Given the description of an element on the screen output the (x, y) to click on. 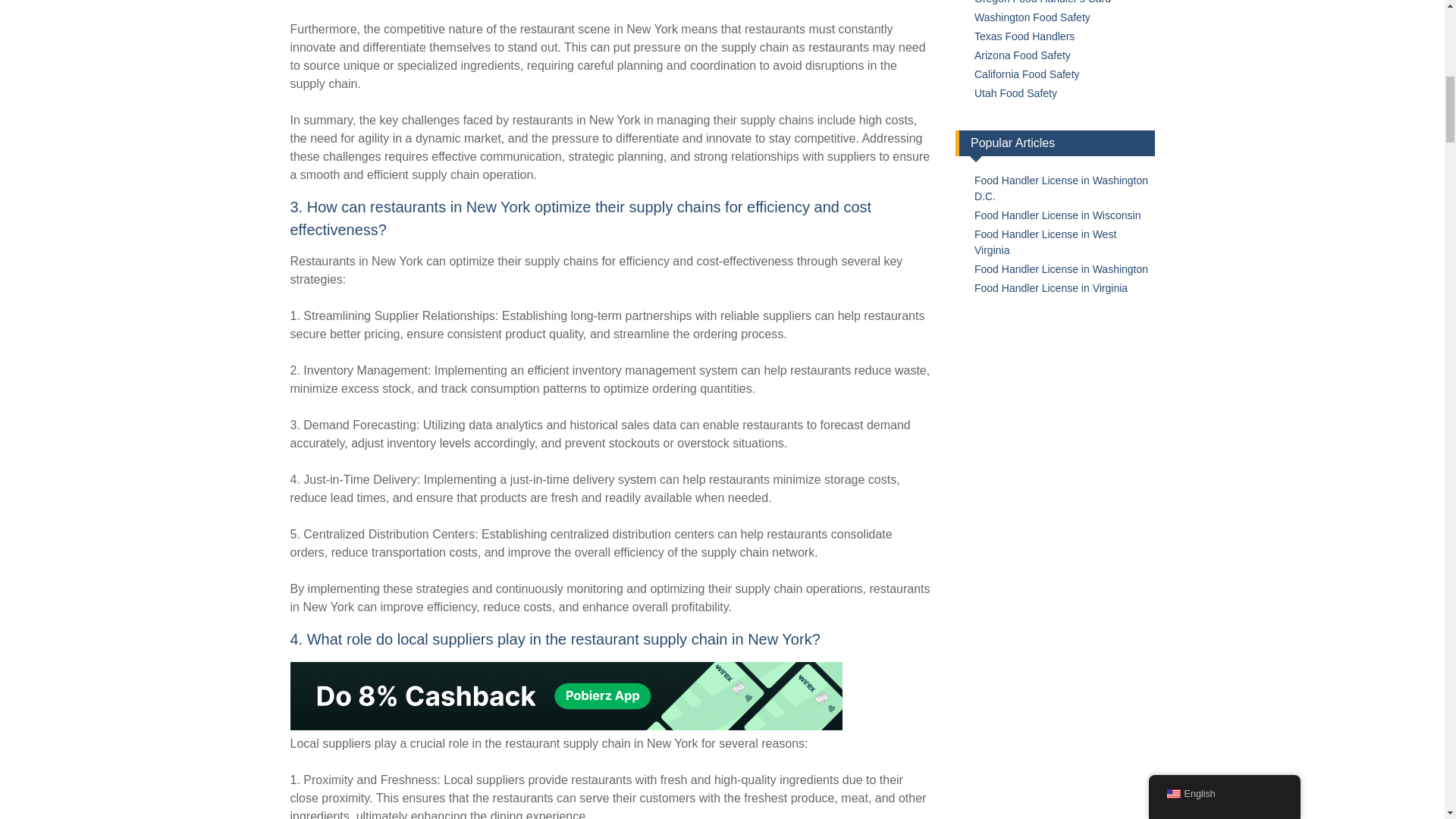
Texas Food Handlers (1024, 36)
Arizona Food Safety (1022, 55)
Washington Food Safety (1032, 17)
California Food Safety (1027, 73)
